Given the description of an element on the screen output the (x, y) to click on. 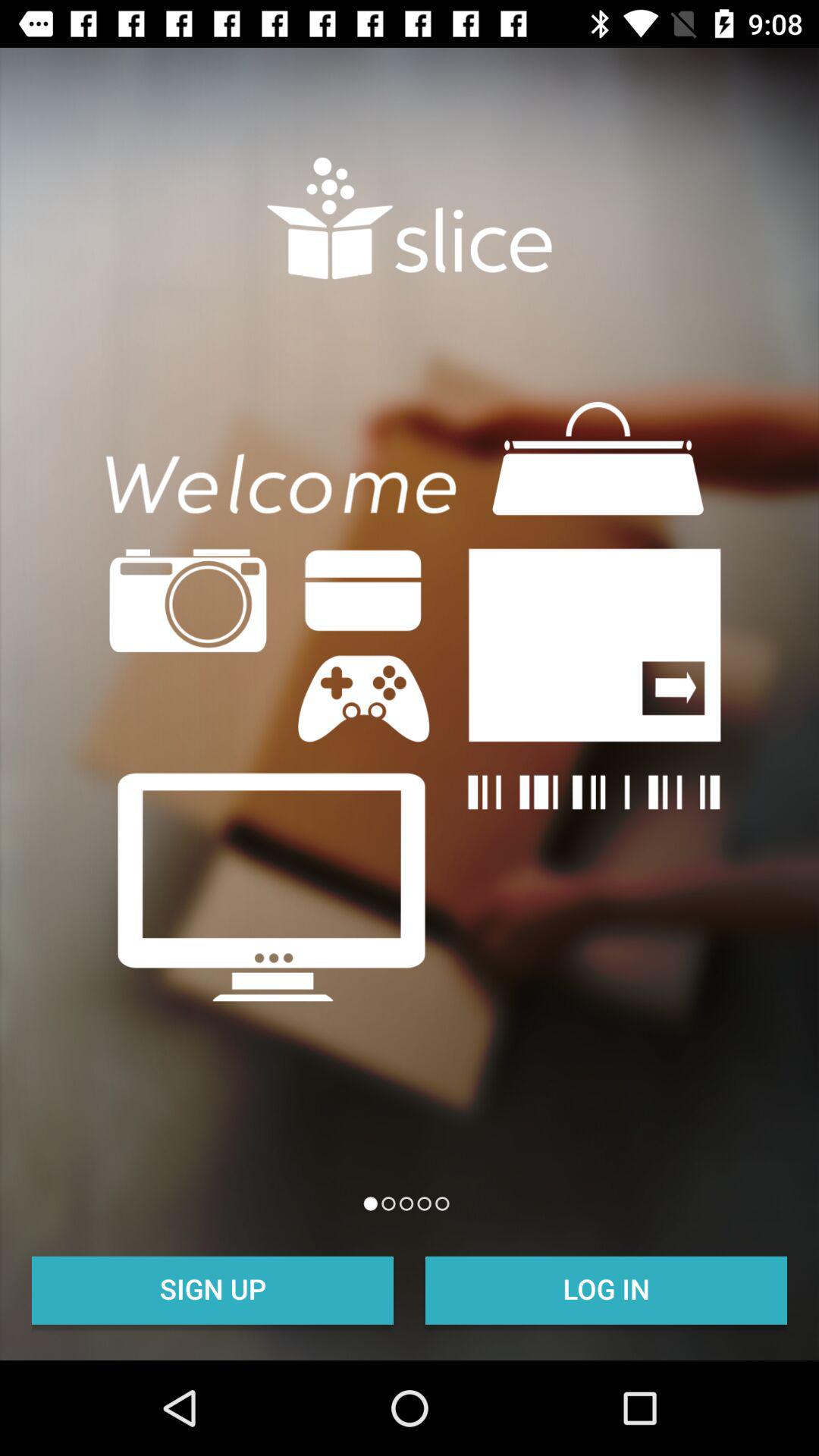
turn on icon to the left of the log in item (212, 1288)
